Given the description of an element on the screen output the (x, y) to click on. 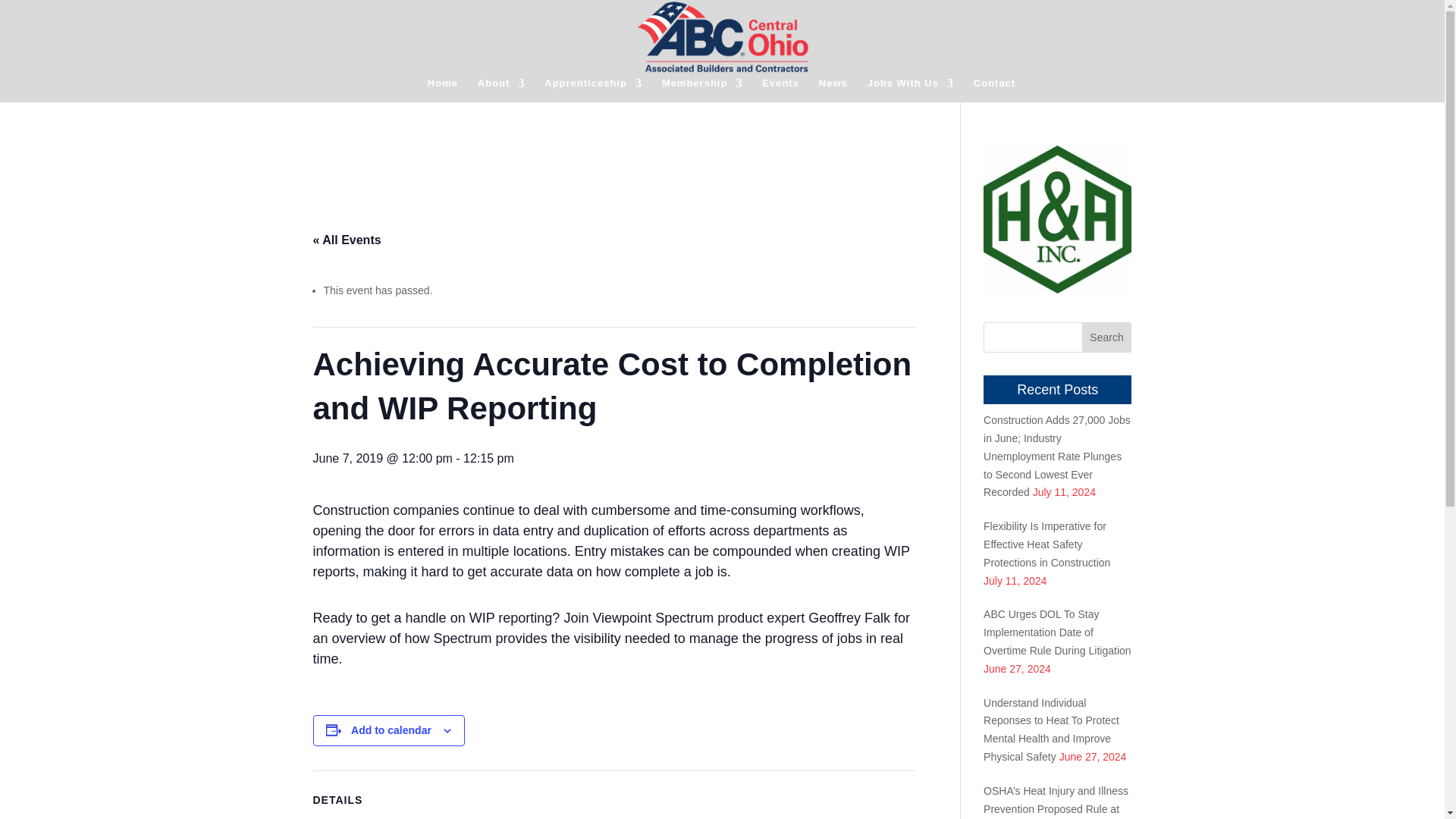
Membership (702, 89)
Home (443, 89)
Apprenticeship (593, 89)
Contact (994, 89)
News (832, 89)
Jobs With Us (910, 89)
Events (780, 89)
About (501, 89)
Search (1106, 337)
